Given the description of an element on the screen output the (x, y) to click on. 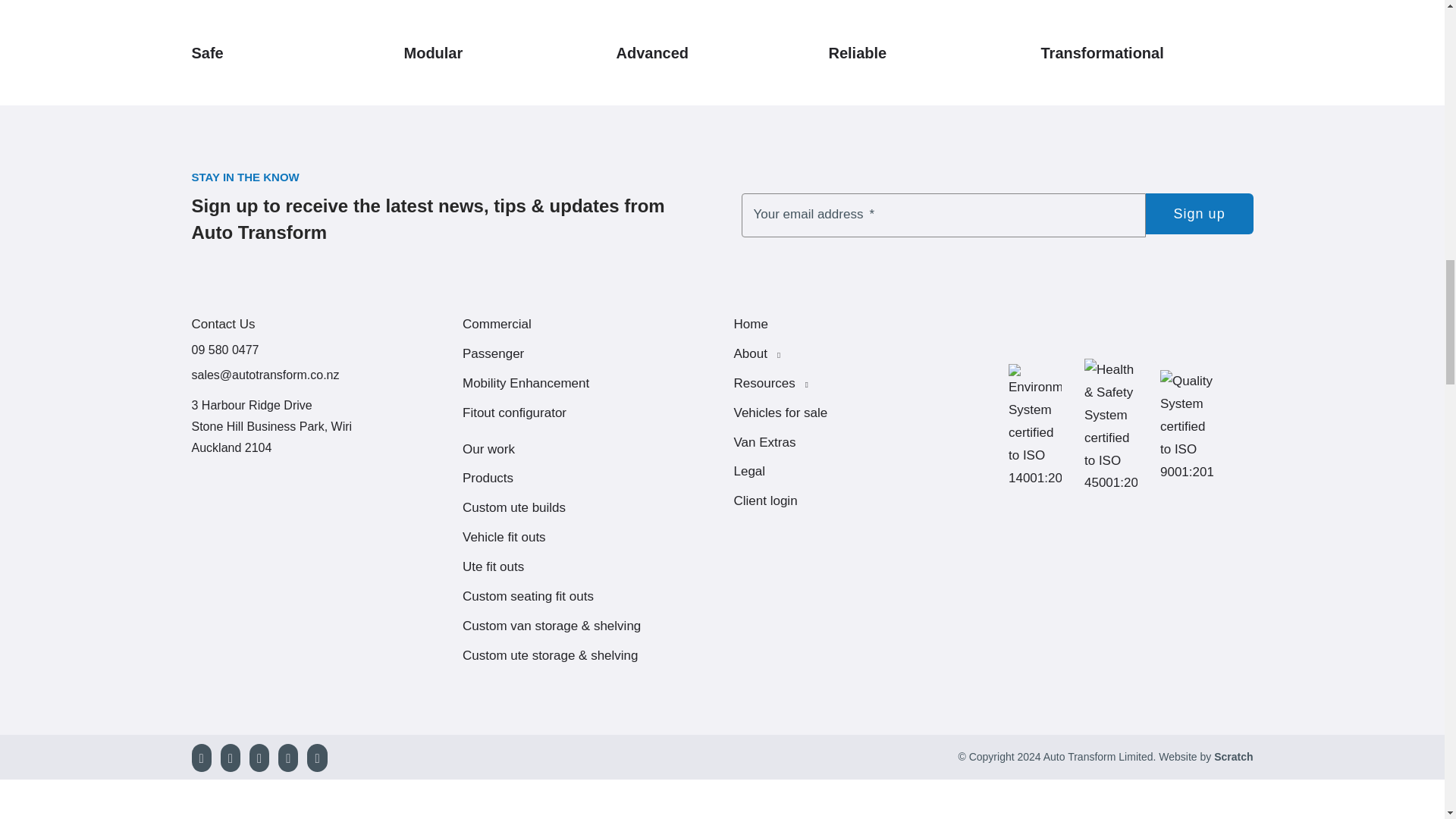
Sign up (1199, 213)
Quality System certified to ISO 9001:2015 (1186, 427)
Environmental System certified to ISO 14001:2015 (1035, 426)
